Given the description of an element on the screen output the (x, y) to click on. 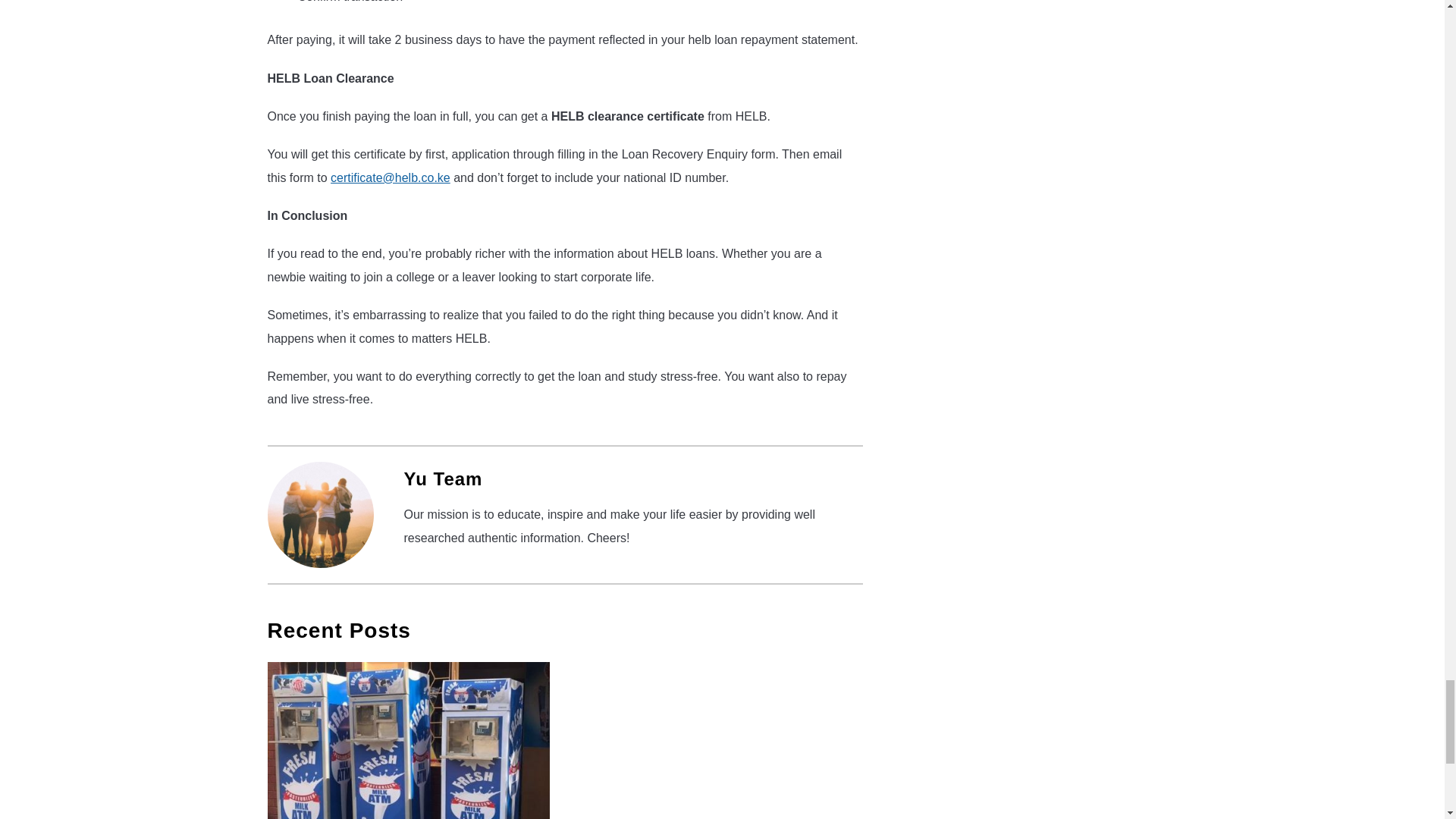
Yu Team (442, 478)
